Given the description of an element on the screen output the (x, y) to click on. 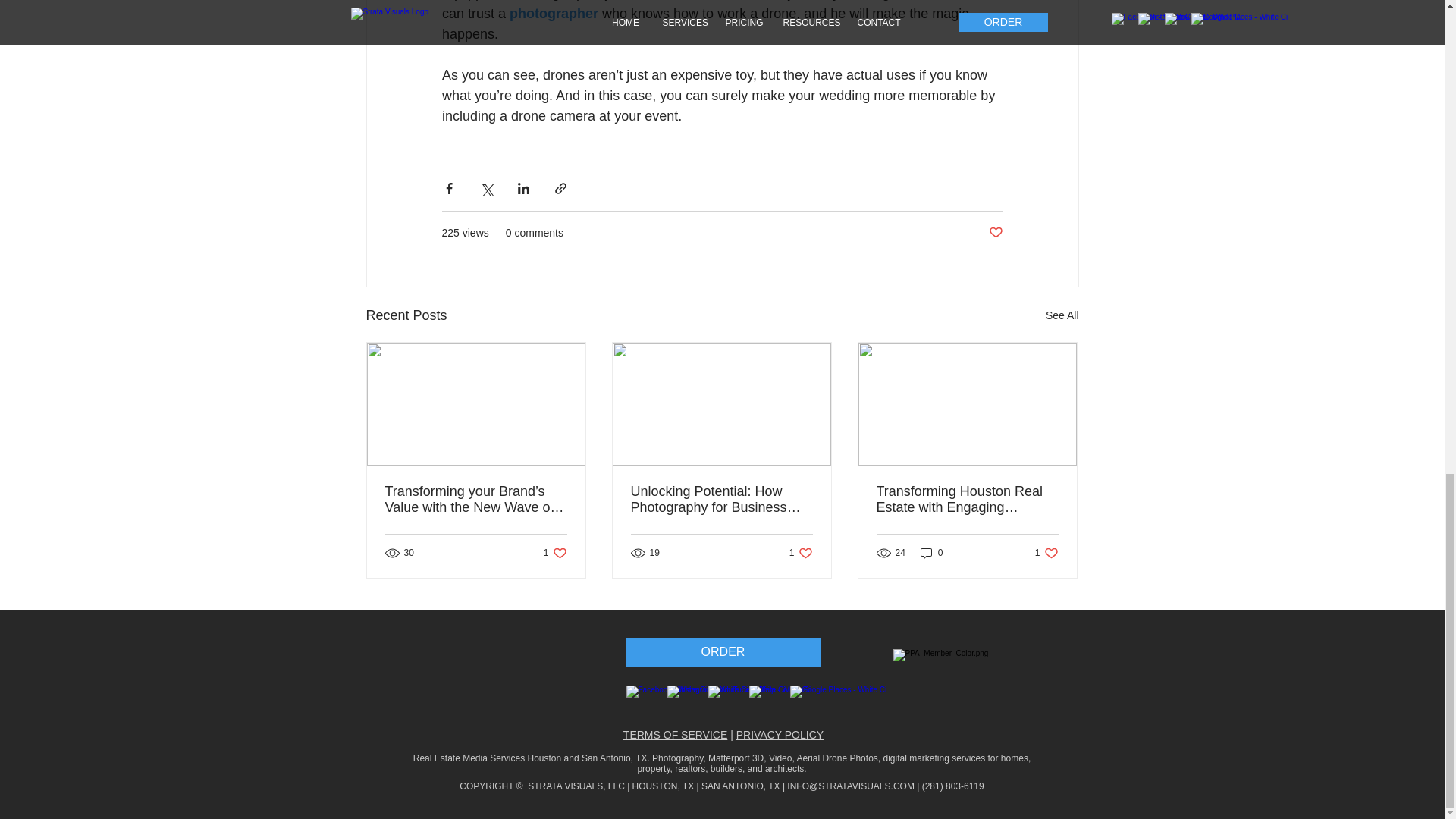
Post not marked as liked (995, 232)
See All (1061, 315)
photographer (553, 13)
